Given the description of an element on the screen output the (x, y) to click on. 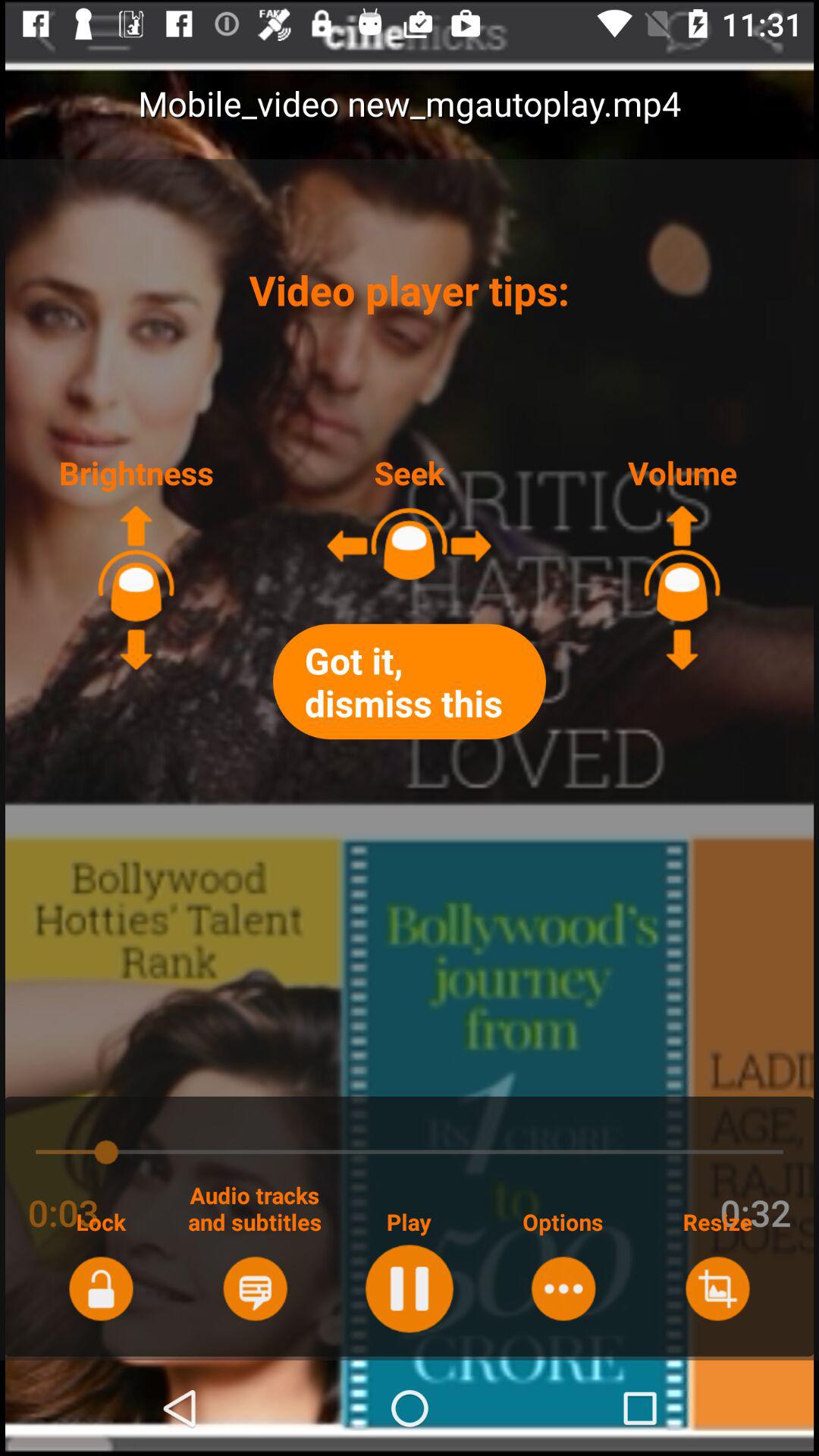
click to audio tracks and subtitles option (255, 1288)
